Given the description of an element on the screen output the (x, y) to click on. 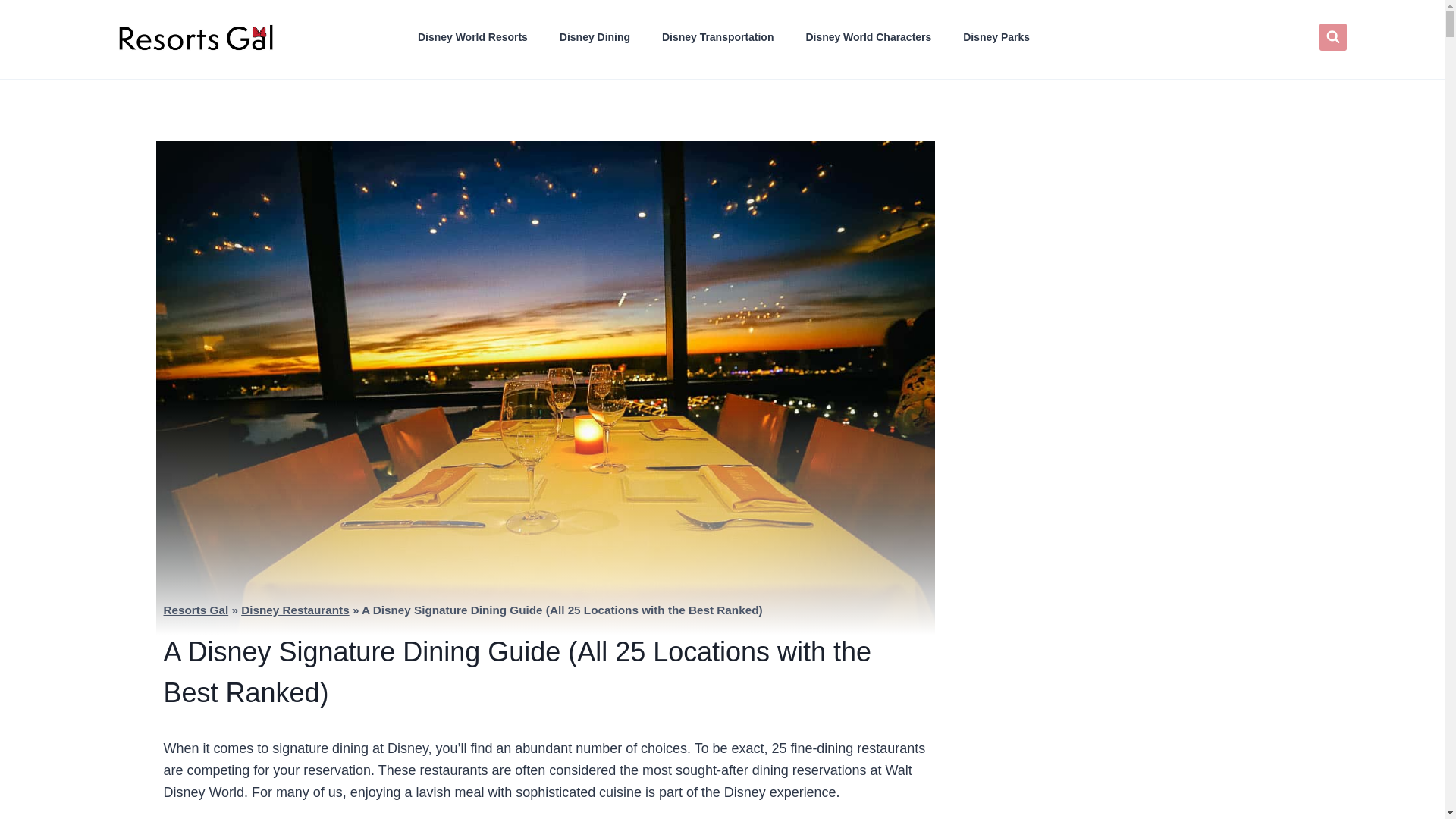
Resorts Gal (195, 609)
Disney Dining (594, 37)
Disney World Characters (868, 37)
Disney Parks (996, 37)
Disney Restaurants (295, 609)
Disney Transportation (717, 37)
Disney World Resorts (472, 37)
